Given the description of an element on the screen output the (x, y) to click on. 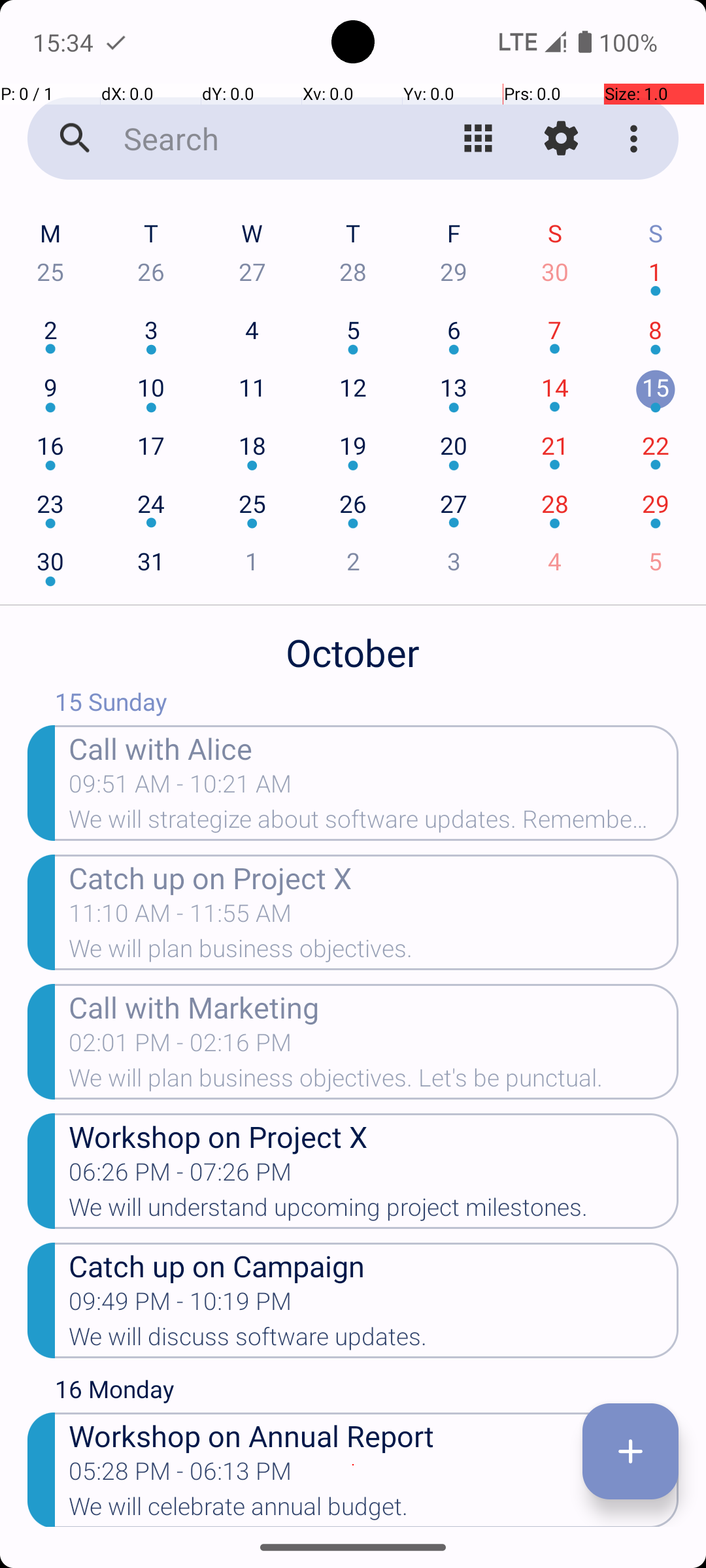
Call with Alice Element type: android.widget.TextView (373, 747)
09:51 AM - 10:21 AM Element type: android.widget.TextView (179, 787)
We will strategize about software updates. Remember to confirm attendance. Element type: android.widget.TextView (373, 822)
11:10 AM - 11:55 AM Element type: android.widget.TextView (179, 916)
We will plan business objectives. Element type: android.widget.TextView (373, 952)
Call with Marketing Element type: android.widget.TextView (373, 1006)
02:01 PM - 02:16 PM Element type: android.widget.TextView (179, 1046)
We will plan business objectives. Let's be punctual. Element type: android.widget.TextView (373, 1081)
Workshop on Project X Element type: android.widget.TextView (373, 1135)
06:26 PM - 07:26 PM Element type: android.widget.TextView (179, 1175)
We will understand upcoming project milestones. Element type: android.widget.TextView (373, 1210)
Catch up on Campaign Element type: android.widget.TextView (373, 1264)
09:49 PM - 10:19 PM Element type: android.widget.TextView (179, 1305)
We will discuss software updates. Element type: android.widget.TextView (373, 1340)
05:28 PM - 06:13 PM Element type: android.widget.TextView (179, 1474)
We will celebrate annual budget. Element type: android.widget.TextView (373, 1509)
